Given the description of an element on the screen output the (x, y) to click on. 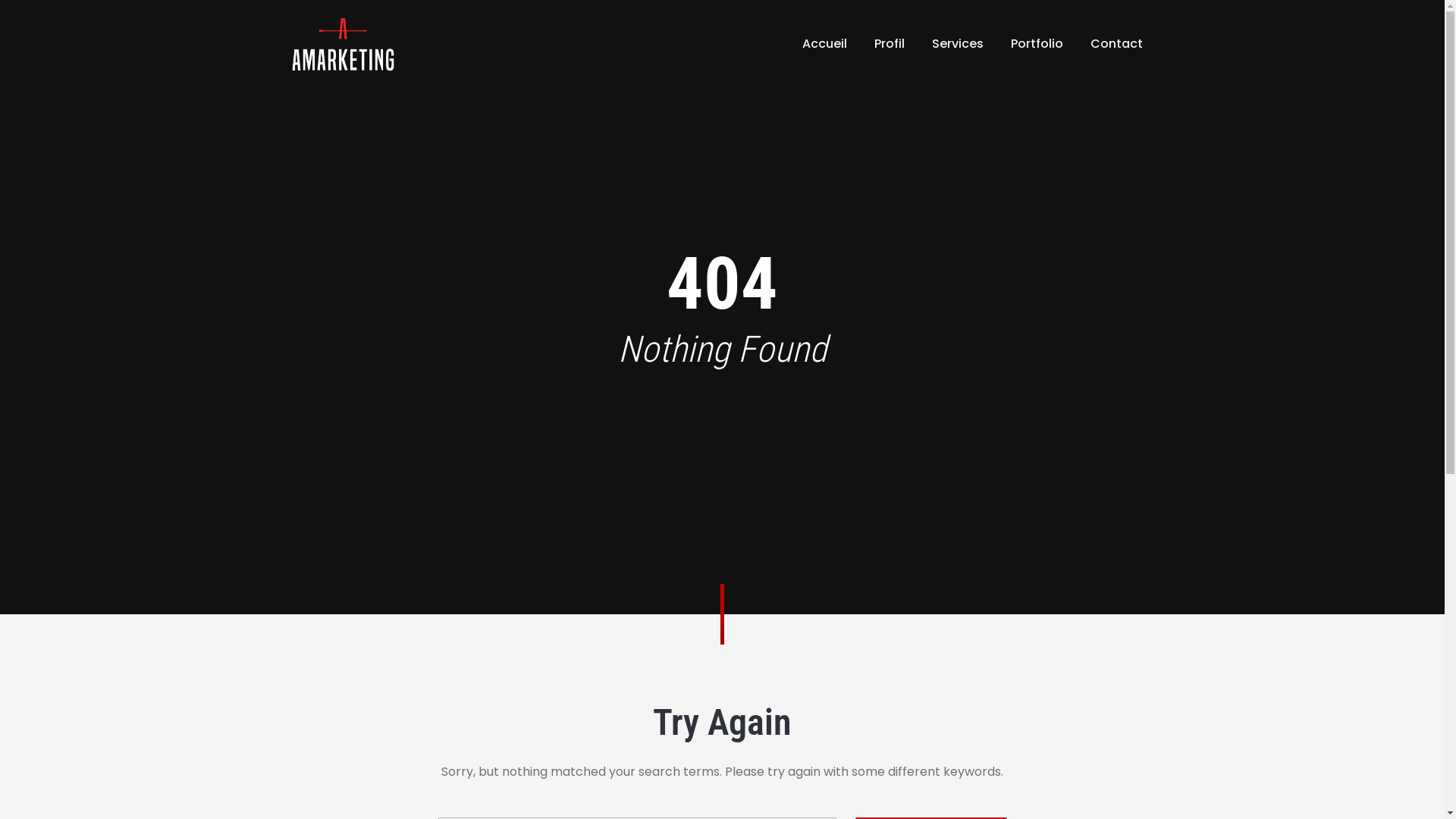
Portfolio Element type: text (1035, 43)
Contact Element type: text (1116, 43)
Services Element type: text (956, 43)
Profil Element type: text (888, 43)
Accueil Element type: text (824, 43)
